Given the description of an element on the screen output the (x, y) to click on. 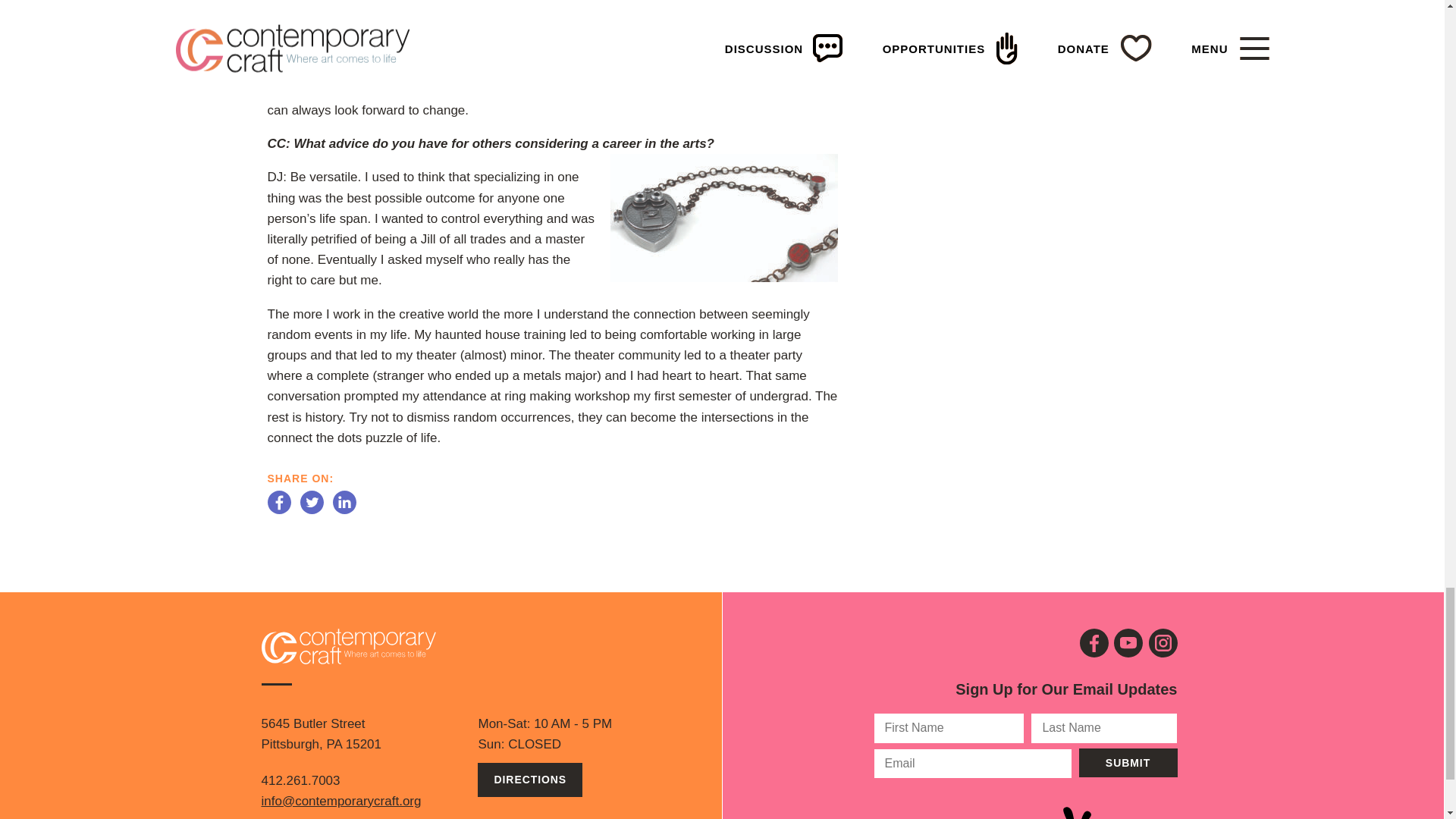
Submit (1127, 762)
